Given the description of an element on the screen output the (x, y) to click on. 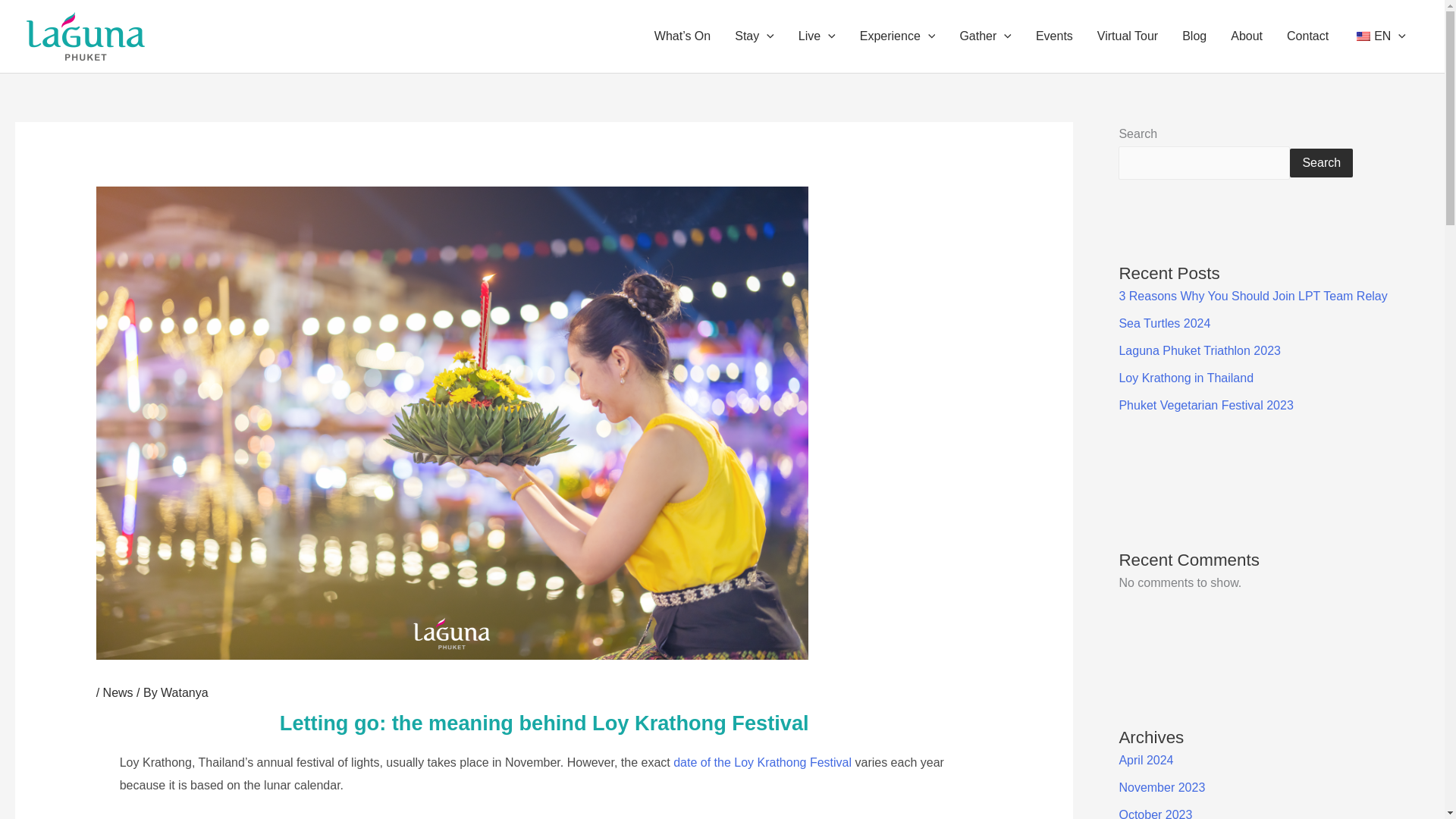
Contact (1307, 36)
About (1246, 36)
View all posts by Watanya (184, 692)
Gather (985, 36)
Live (816, 36)
Blog (1194, 36)
EN (1379, 36)
Virtual Tour (1127, 36)
Events (1053, 36)
Current Language (1363, 35)
Experience (897, 36)
Stay (754, 36)
